Given the description of an element on the screen output the (x, y) to click on. 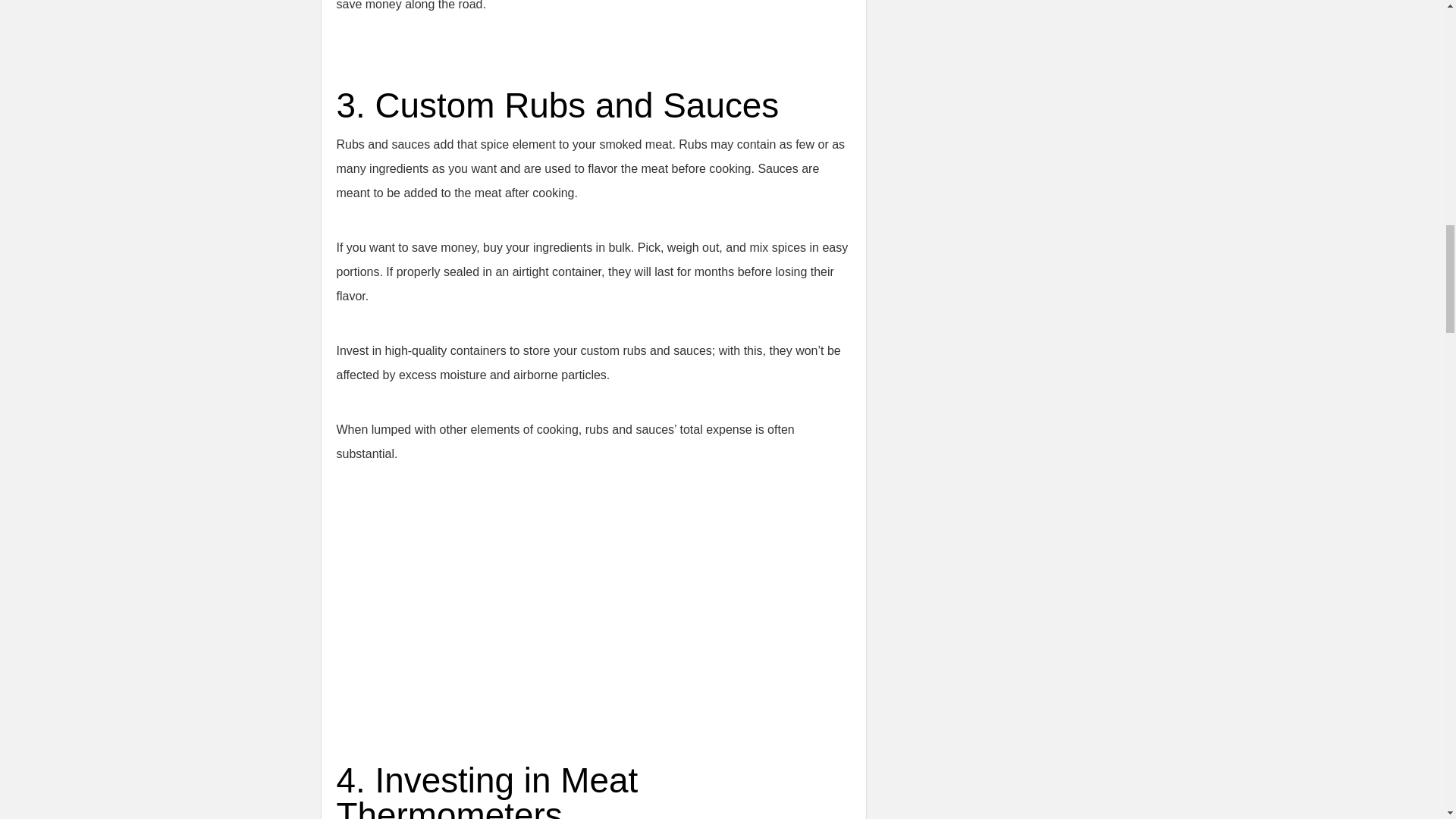
Dryrub mix 3211 - my all-purpose rub (526, 604)
